Given the description of an element on the screen output the (x, y) to click on. 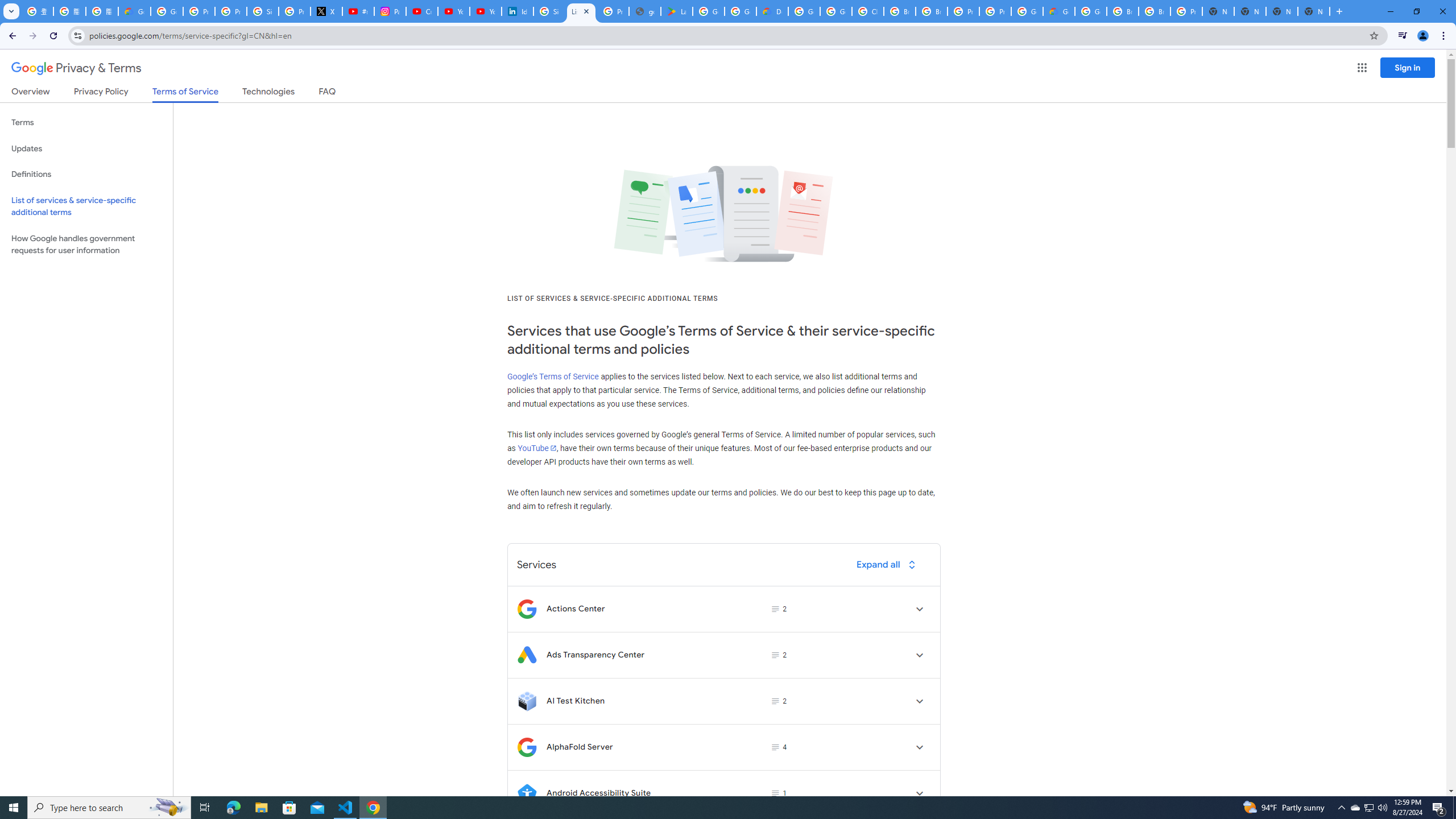
Browse Chrome as a guest - Computer - Google Chrome Help (1123, 11)
Sign in - Google Accounts (549, 11)
New Tab (1281, 11)
Privacy Help Center - Policies Help (230, 11)
Logo for AI Test Kitchen (526, 700)
Google Cloud Platform (804, 11)
